Given the description of an element on the screen output the (x, y) to click on. 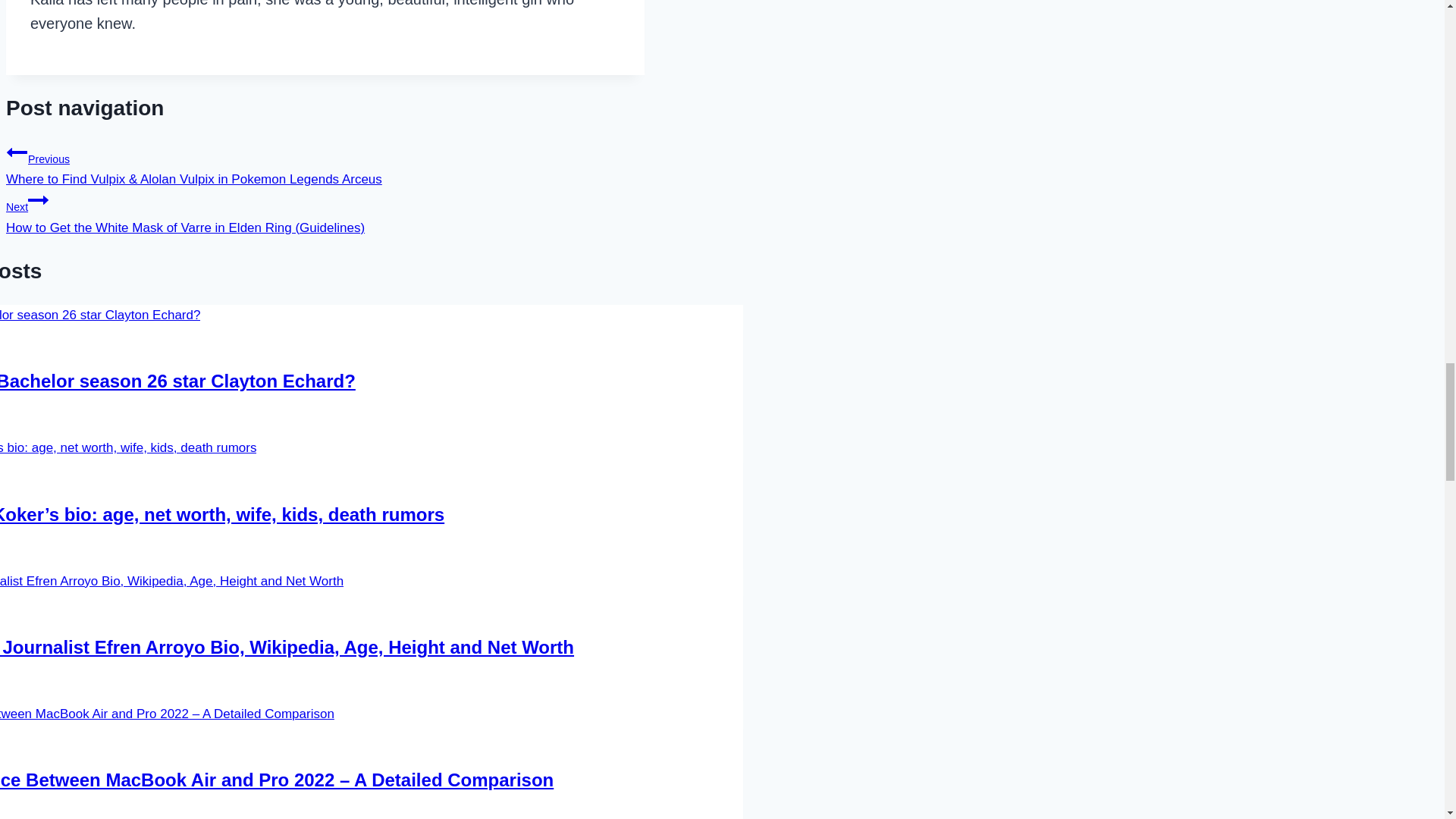
Who is Bachelor season 26 star Clayton Echard? (177, 381)
Continue (37, 199)
Previous (16, 151)
